Given the description of an element on the screen output the (x, y) to click on. 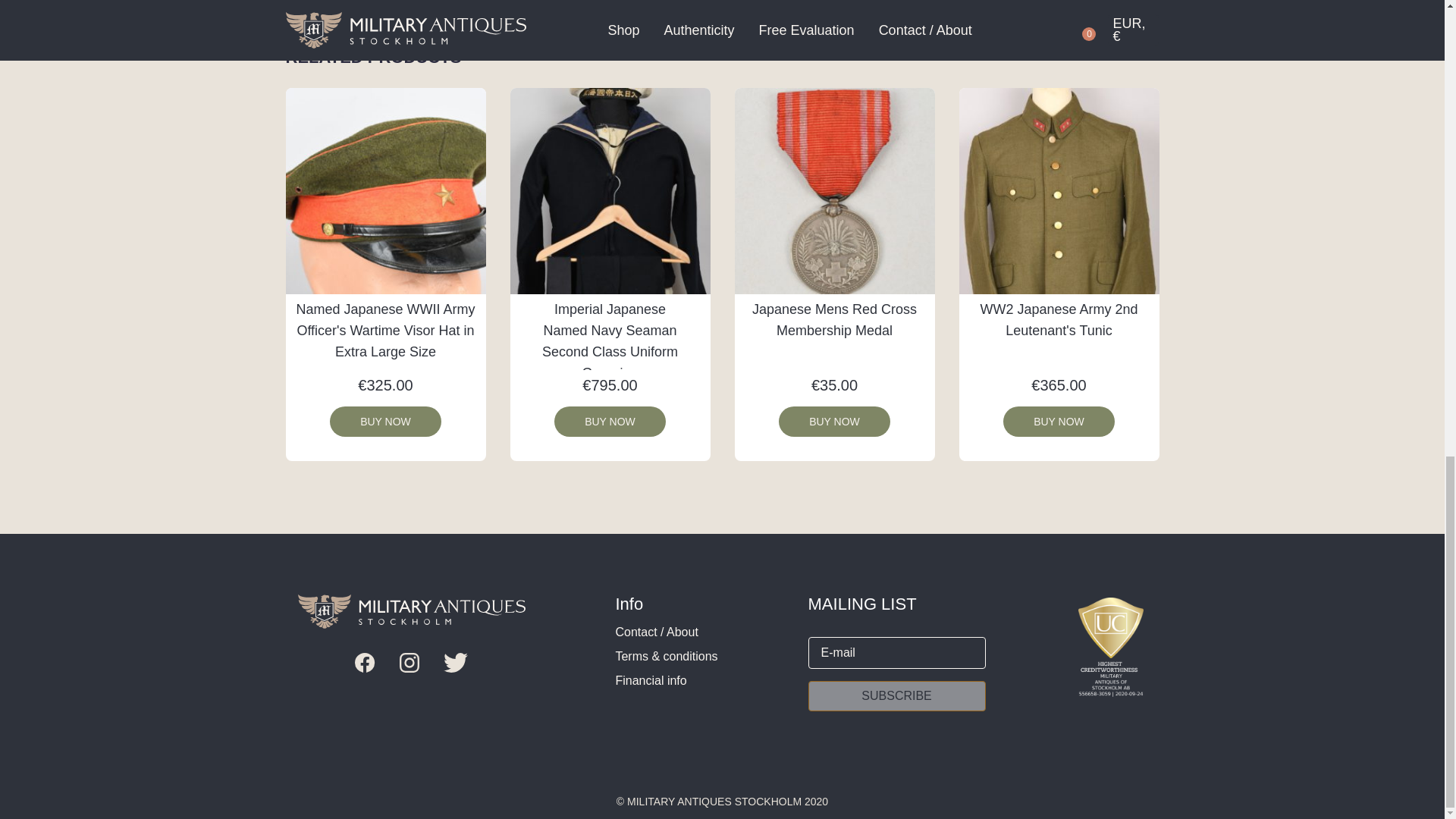
Subscribe (896, 695)
